Given the description of an element on the screen output the (x, y) to click on. 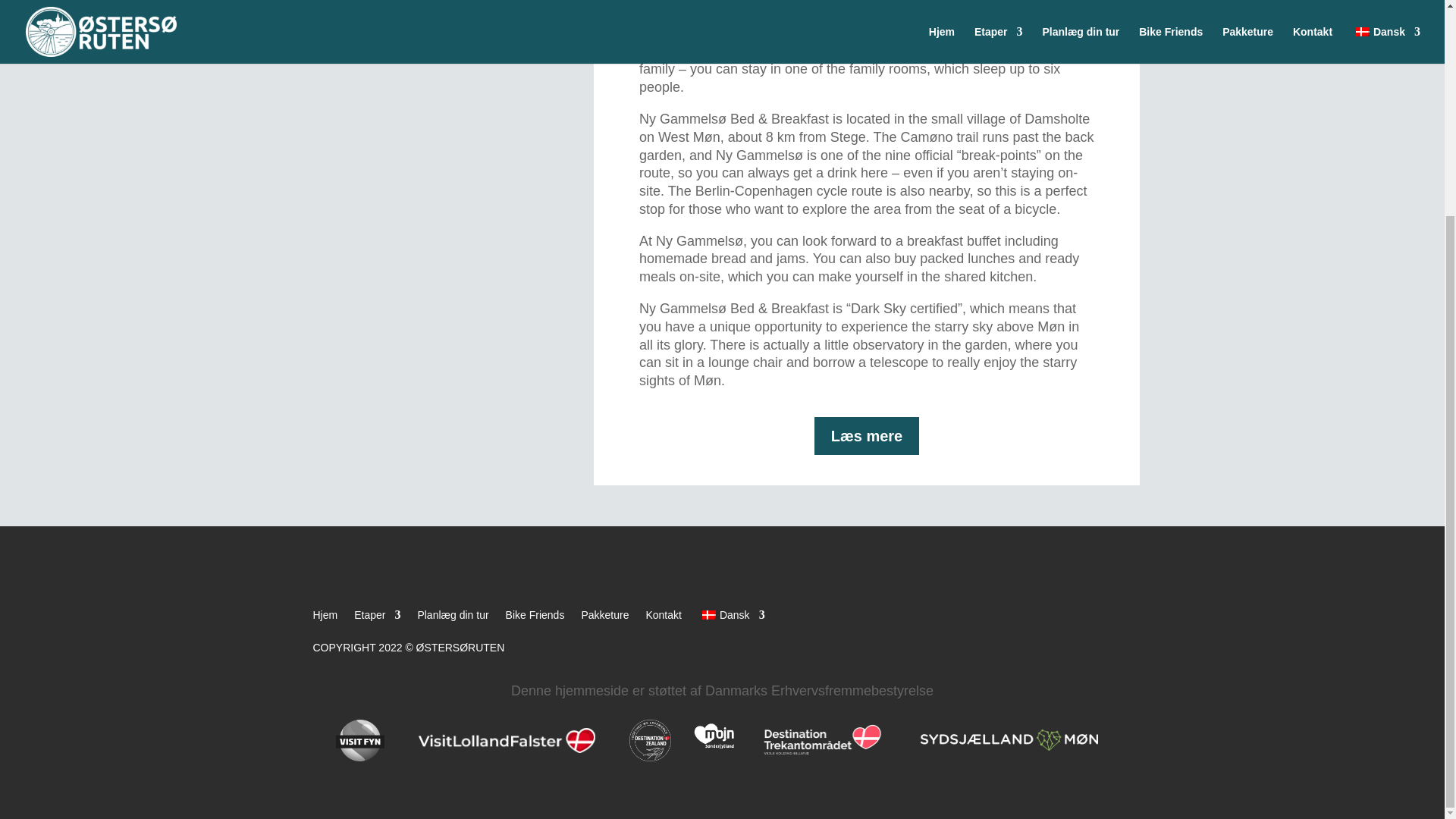
Dansk (708, 614)
